Given the description of an element on the screen output the (x, y) to click on. 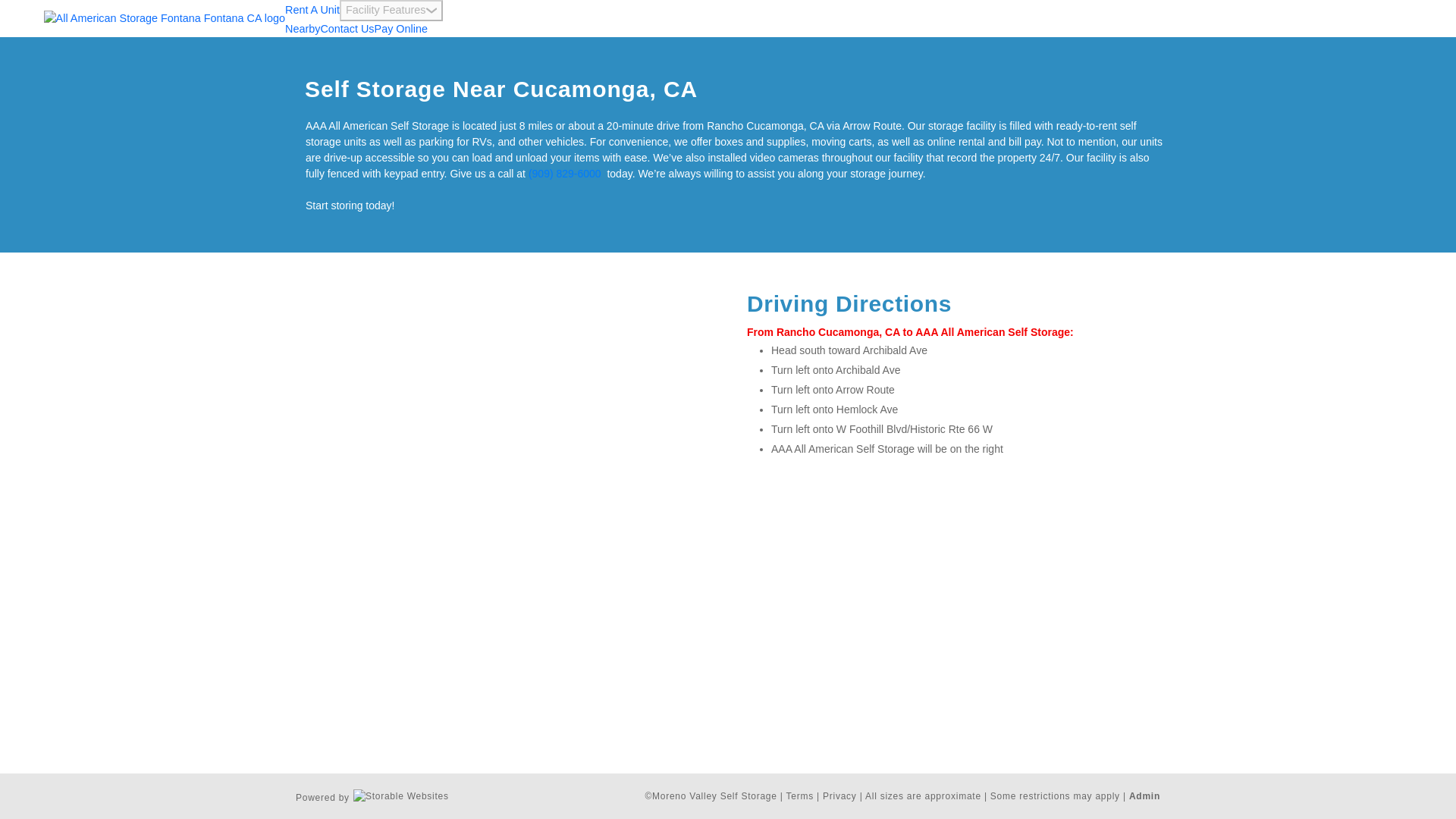
Terms (799, 796)
All American Storage Fontana Fontana CA logo (164, 18)
Rent A Unit (312, 9)
Nearby (302, 28)
Contact Us (347, 28)
Admin (1144, 796)
Powered by (371, 795)
Facility Featuresgroup (390, 10)
Pay Online (401, 28)
Privacy (839, 796)
group (431, 10)
